Given the description of an element on the screen output the (x, y) to click on. 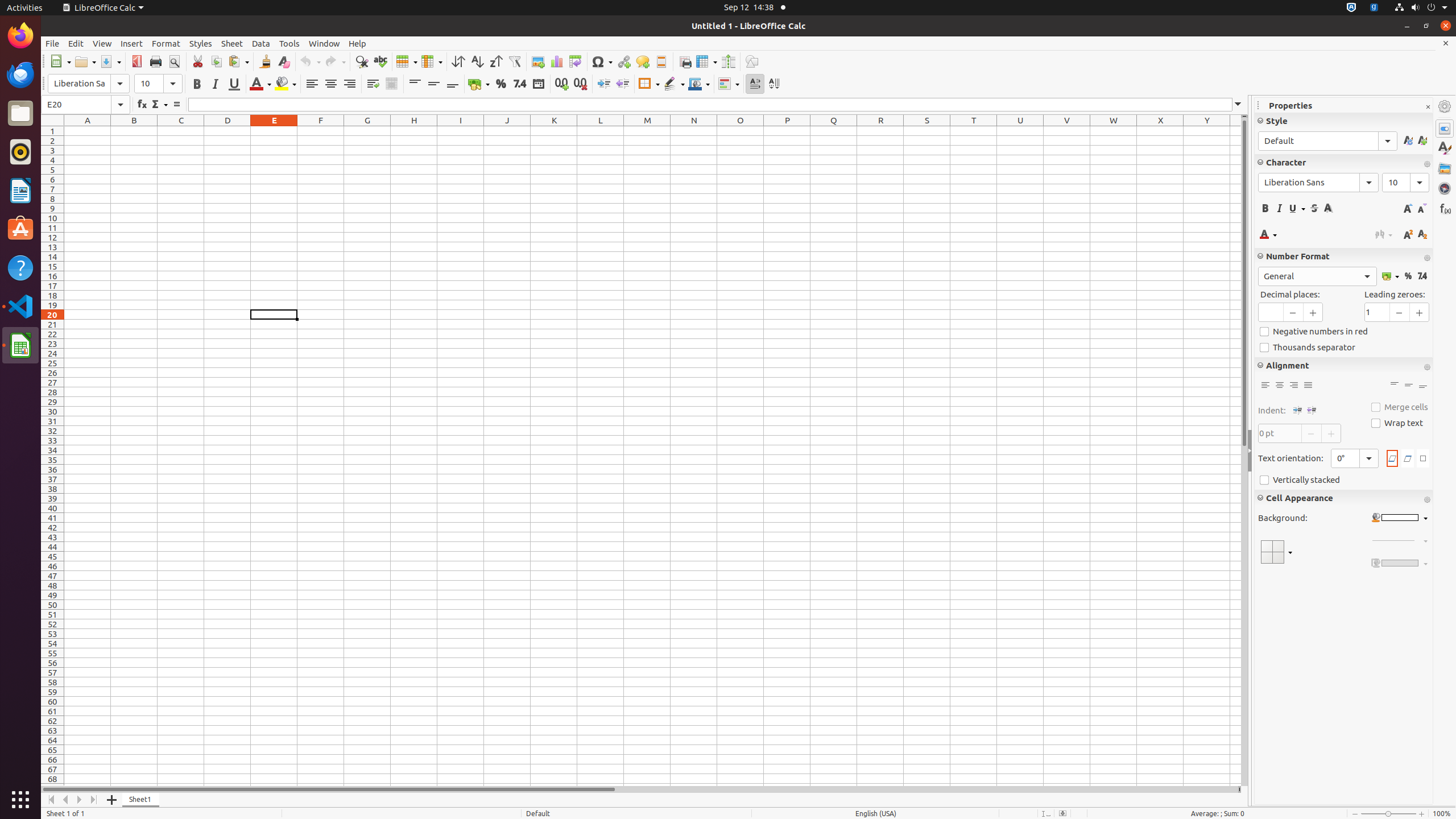
Sheet Element type: menu (231, 43)
Undo Element type: push-button (309, 61)
Symbol Element type: push-button (601, 61)
Column Element type: push-button (431, 61)
Align Top Element type: toggle-button (1394, 385)
